Given the description of an element on the screen output the (x, y) to click on. 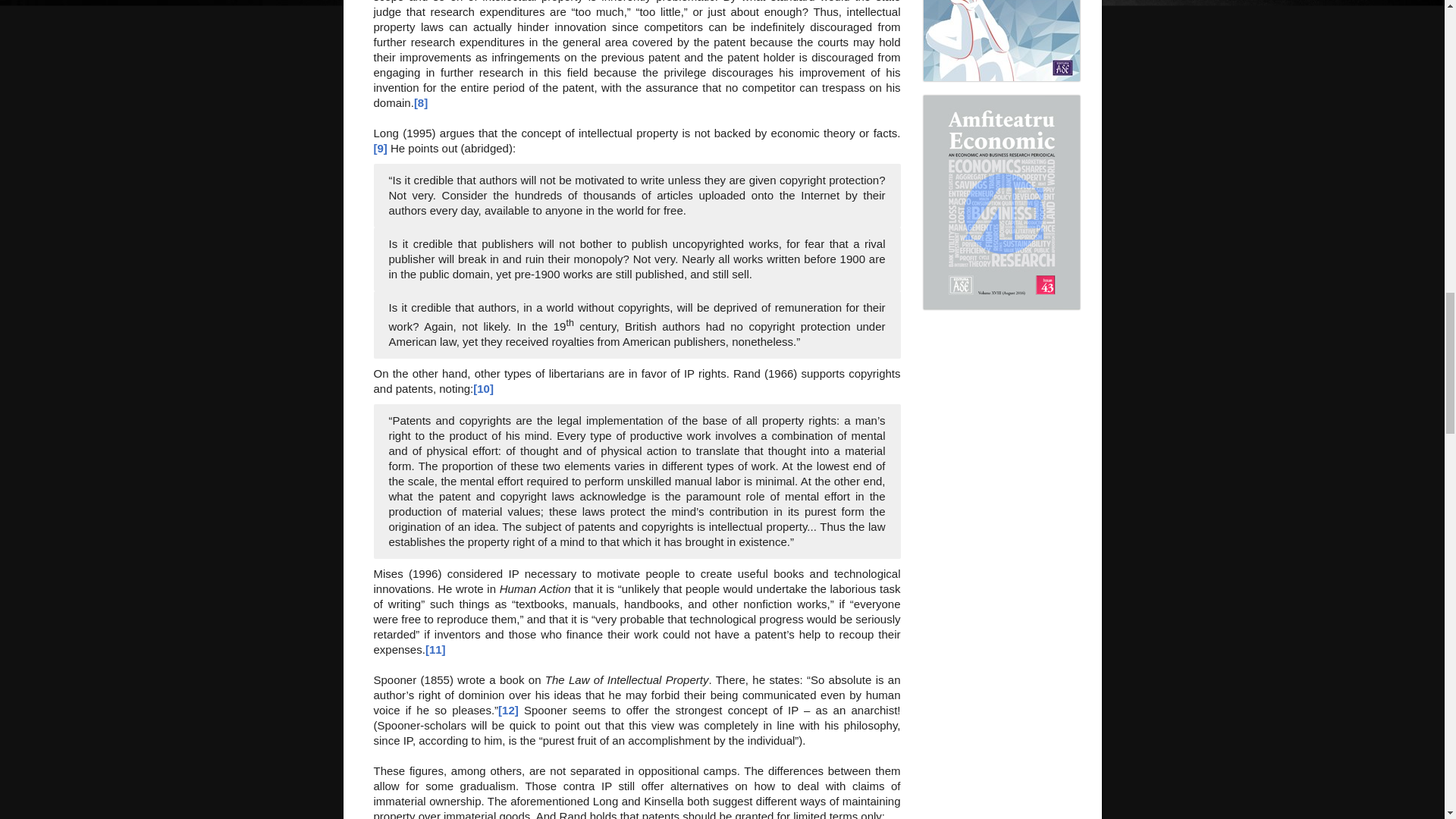
OEconomica (1001, 77)
